Given the description of an element on the screen output the (x, y) to click on. 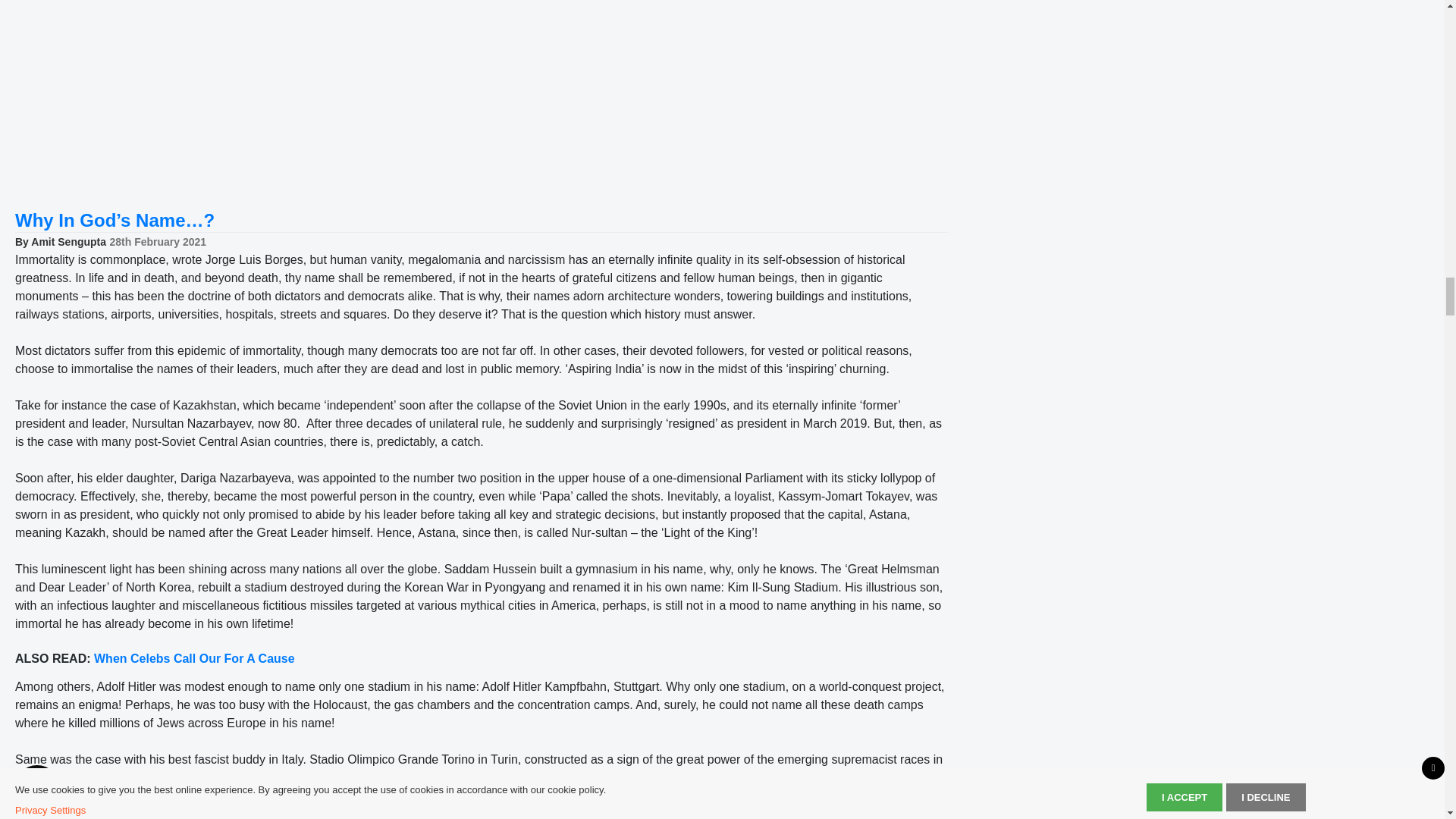
Amit Sengupta (68, 241)
When Celebs Call Our For A Cause (194, 658)
